Given the description of an element on the screen output the (x, y) to click on. 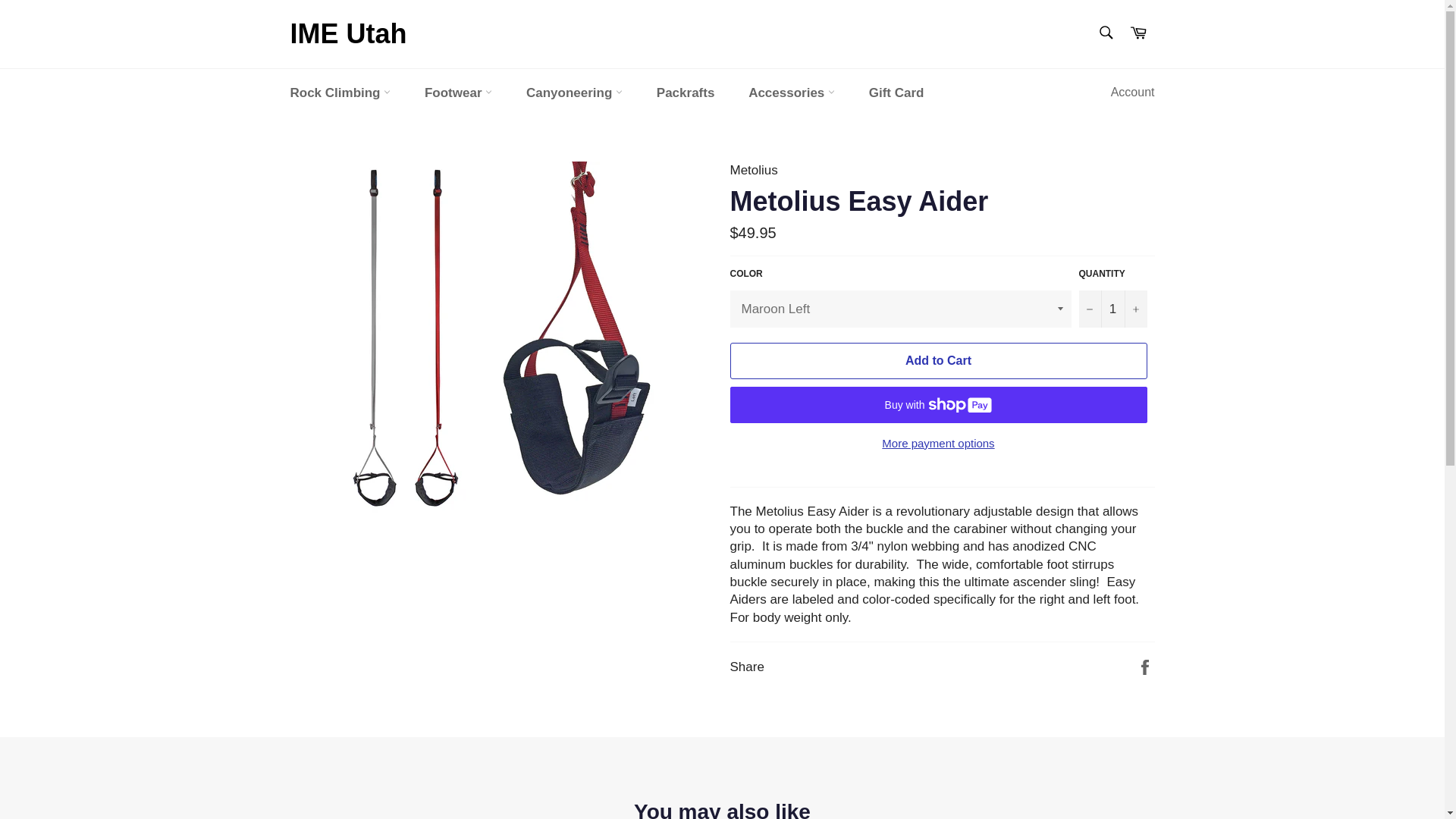
1 (1112, 308)
Share on Facebook (1144, 666)
